Given the description of an element on the screen output the (x, y) to click on. 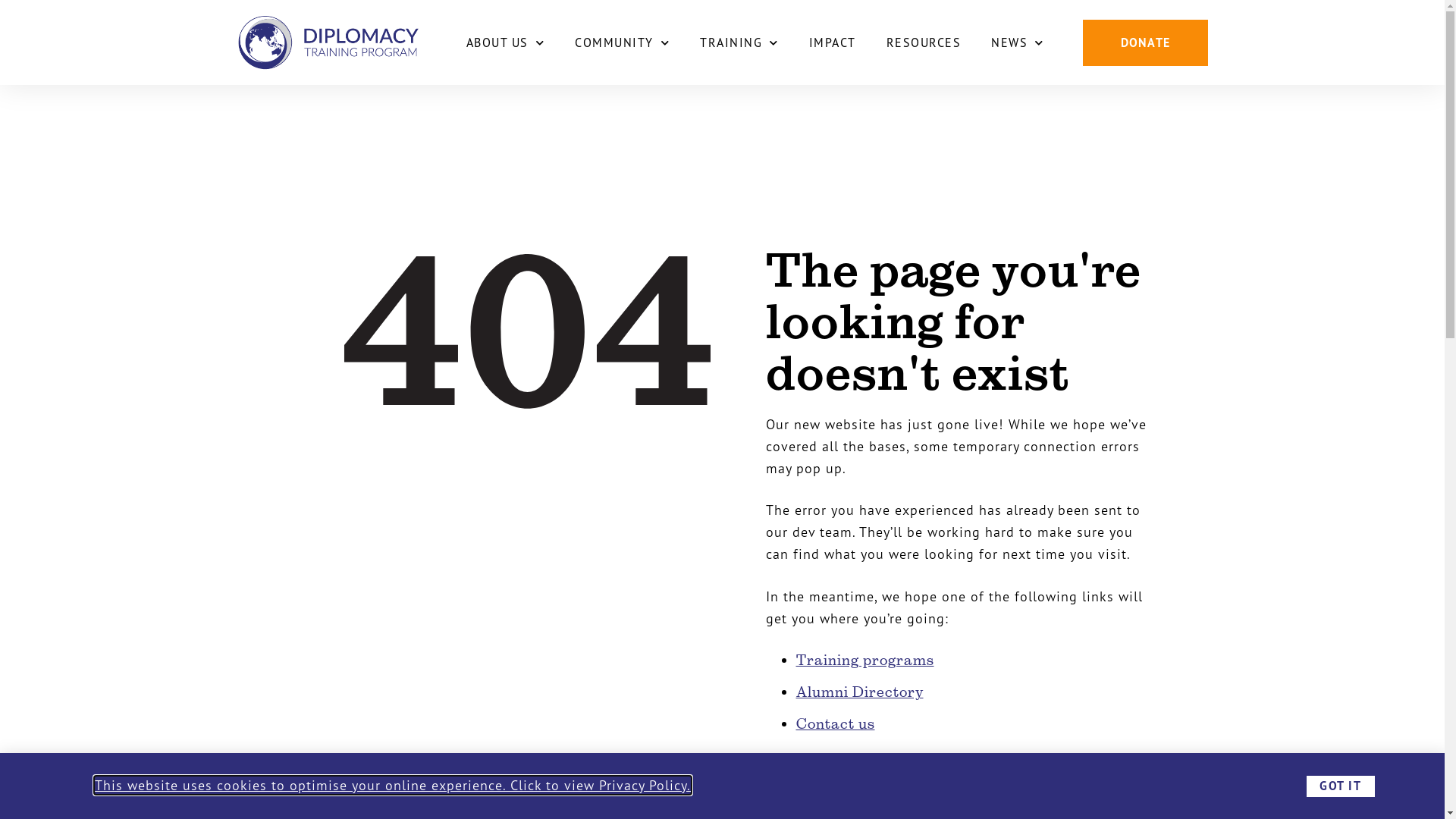
NEWS Element type: text (1017, 42)
Training programs Element type: text (865, 659)
COMMUNITY Element type: text (621, 42)
GOT IT Element type: text (1340, 786)
ABOUT US Element type: text (504, 42)
DONATE Element type: text (1145, 42)
RESOURCES Element type: text (922, 42)
TRAINING Element type: text (738, 42)
Contact us Element type: text (835, 723)
Alumni Directory Element type: text (859, 691)
IMPACT Element type: text (831, 42)
